Given the description of an element on the screen output the (x, y) to click on. 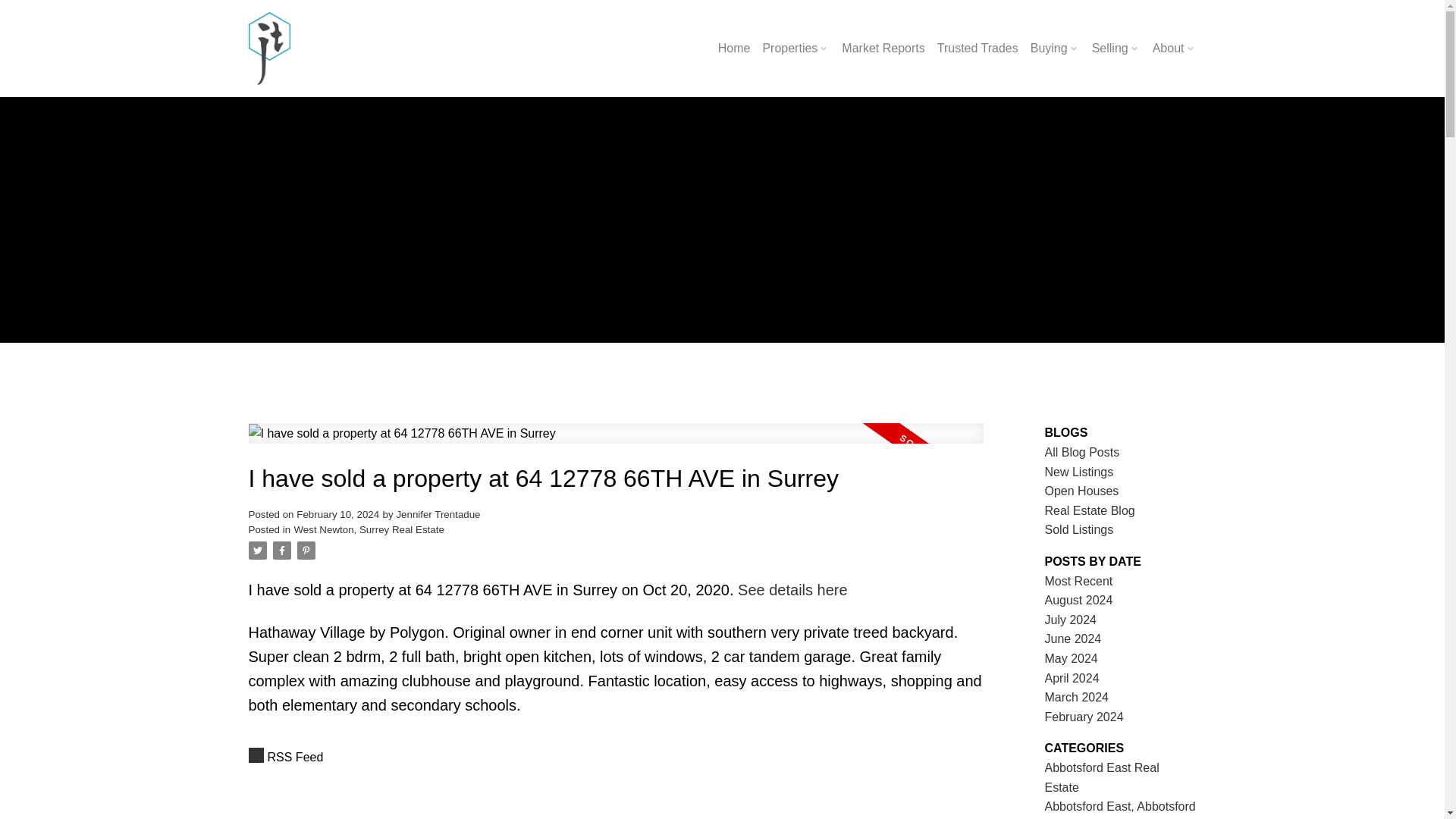
RSS (616, 757)
Market Reports (882, 48)
Trusted Trades (977, 48)
Home (734, 48)
